Given the description of an element on the screen output the (x, y) to click on. 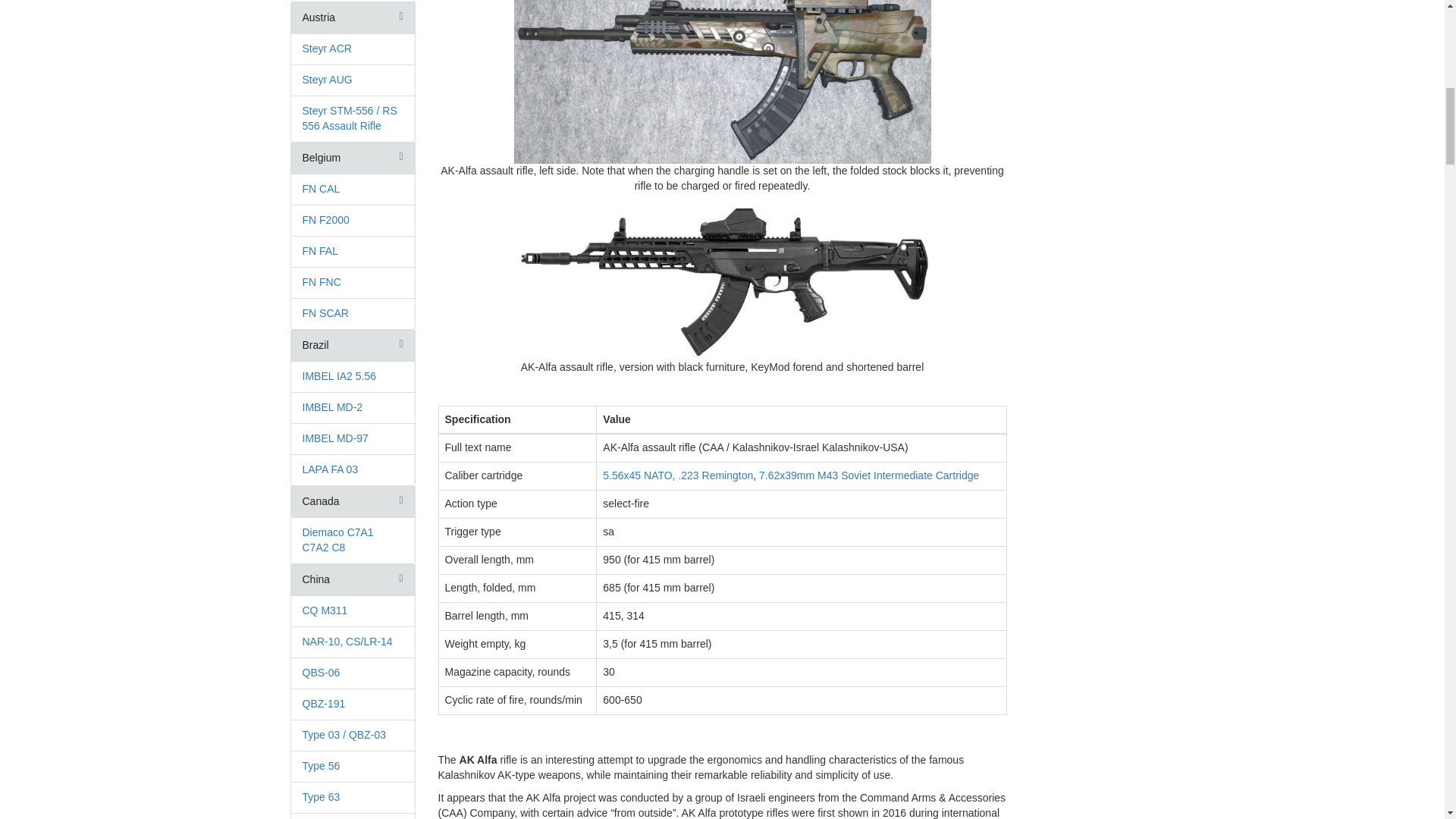
Steyr AUG (326, 79)
Austria (317, 17)
Steyr ACR (325, 48)
Belgium (320, 157)
FN CAL (320, 188)
FN F2000 (325, 219)
